Given the description of an element on the screen output the (x, y) to click on. 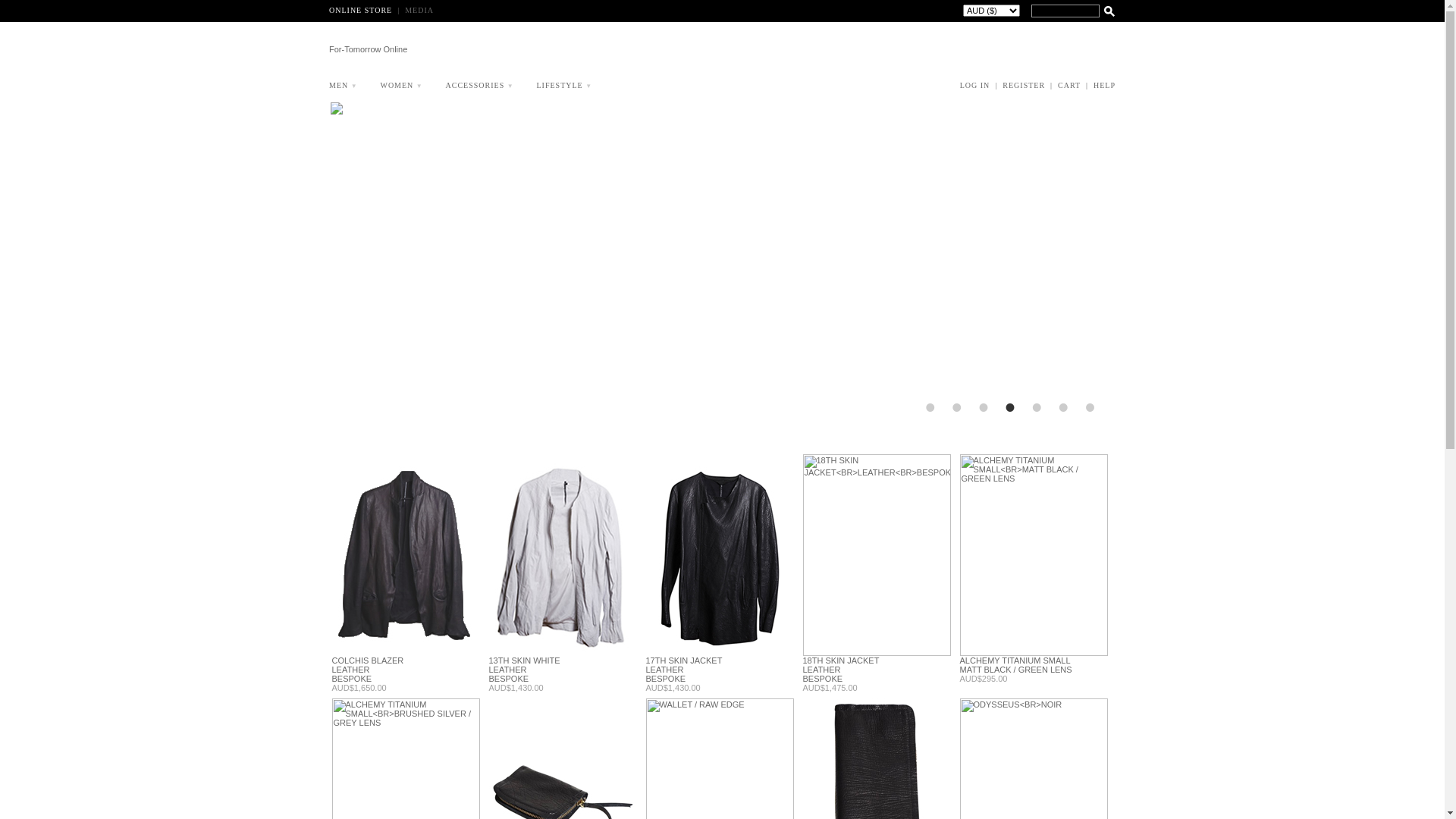
 Colchis Blazer<br>Leather<br>Bespoke  Element type: hover (406, 554)
17TH SKIN JACKET
LEATHER
BESPOKE Element type: text (684, 669)
 13th Skin White<br>Leather<br>Bespoke  Element type: hover (562, 554)
ALCHEMY TITANIUM SMALL
MATT BLACK / GREEN LENS Element type: text (1016, 664)
LOG IN Element type: text (976, 85)
18TH SKIN JACKET
LEATHER
BESPOKE Element type: text (840, 669)
CART Element type: text (1069, 85)
REGISTER Element type: text (1024, 85)
HELP Element type: text (1104, 85)
13TH SKIN WHITE
LEATHER
BESPOKE Element type: text (523, 669)
 18th Skin Jacket<br>Leather<br>Bespoke  Element type: hover (876, 554)
COLCHIS BLAZER
LEATHER
BESPOKE Element type: text (368, 669)
ONLINE STORE Element type: text (362, 10)
MEDIA Element type: text (418, 10)
 17th Skin Jacket<br>Leather<br>Bespoke  Element type: hover (719, 554)
 Alchemy Titanium Small<br>Matt Black / Green Lens  Element type: hover (1033, 554)
 For-Tomorrow Online  Element type: hover (389, 50)
